Given the description of an element on the screen output the (x, y) to click on. 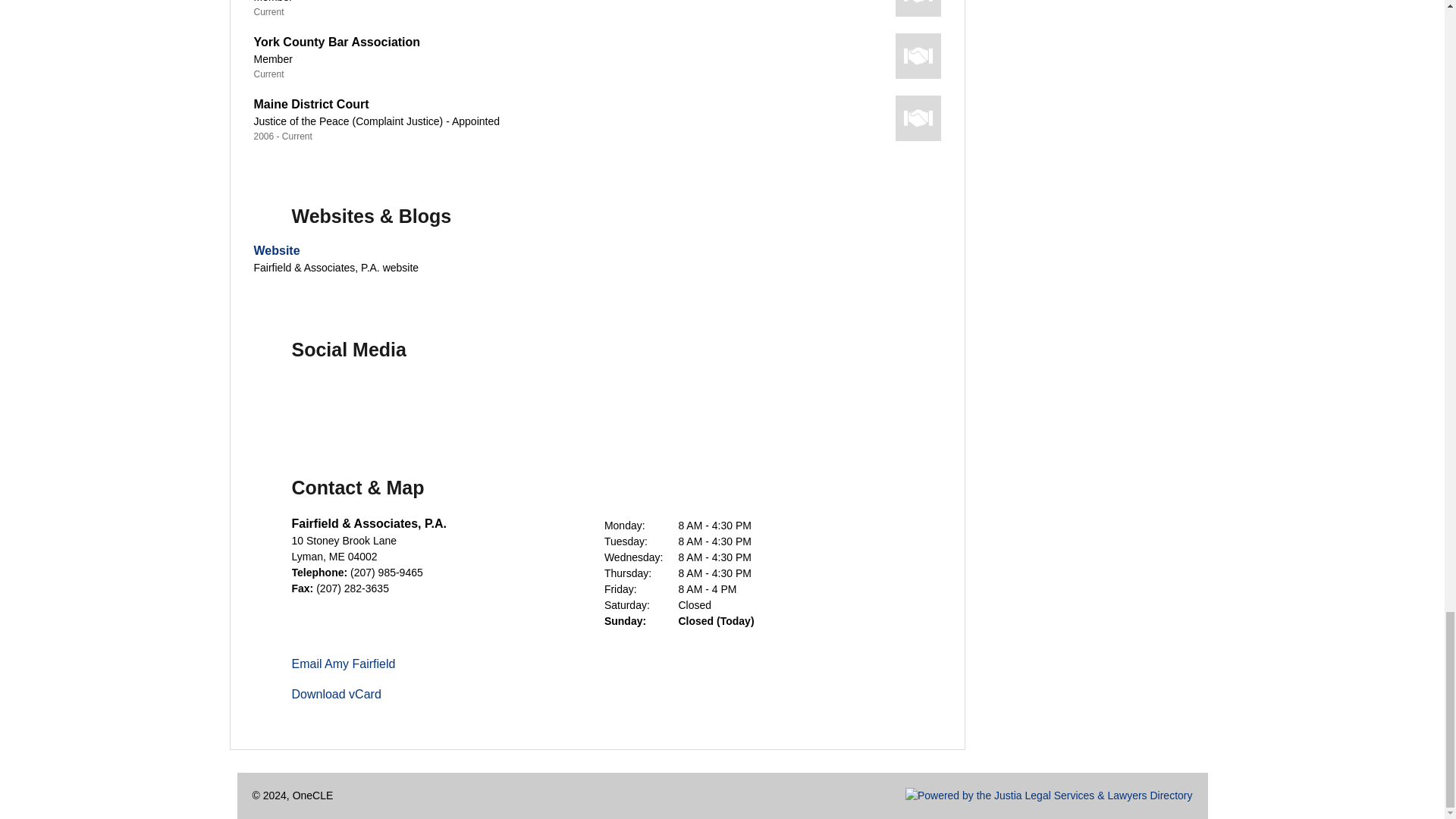
LinkedIn (381, 398)
Amy Fairfield on Facebook (275, 398)
Email Amy Fairfield (342, 663)
Download vCard (335, 694)
Justia Profile (435, 398)
Website (276, 250)
Amy Fairfield's Avvo Profile (488, 398)
Amy Fairfield's Martindale Profile (594, 398)
Amy Fairfield on LinkedIn (381, 398)
Amy Fairfield's Avvo Profile (488, 398)
